Given the description of an element on the screen output the (x, y) to click on. 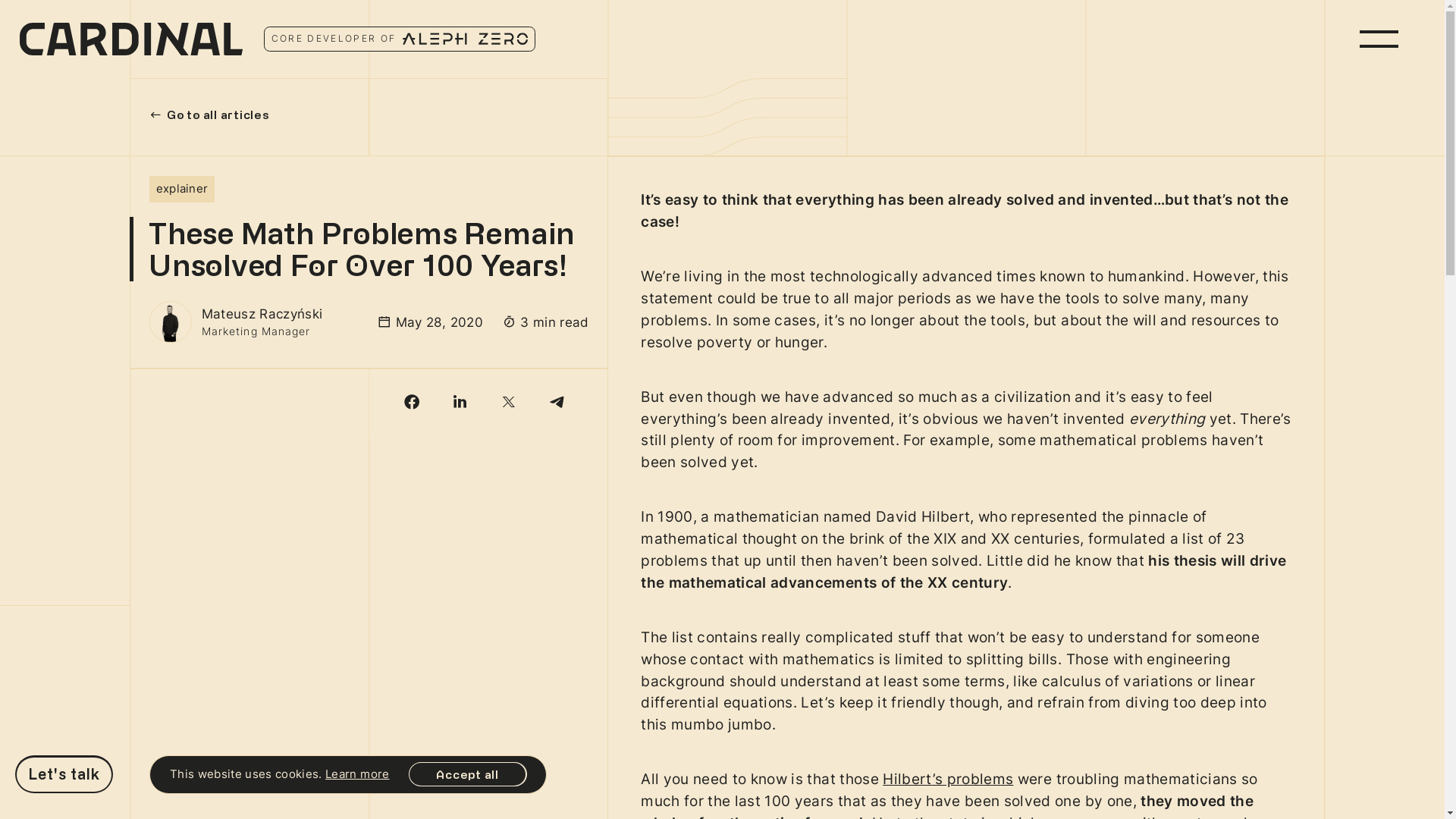
Learn more Element type: text (357, 773)
Let's talk Element type: text (63, 773)
Telegram Element type: hover (558, 402)
X Element type: hover (509, 402)
Go to all articles
Go to all articles Element type: text (209, 114)
Linkedin Element type: hover (460, 402)
Accept all Element type: text (467, 774)
Facebook Element type: hover (411, 402)
